Given the description of an element on the screen output the (x, y) to click on. 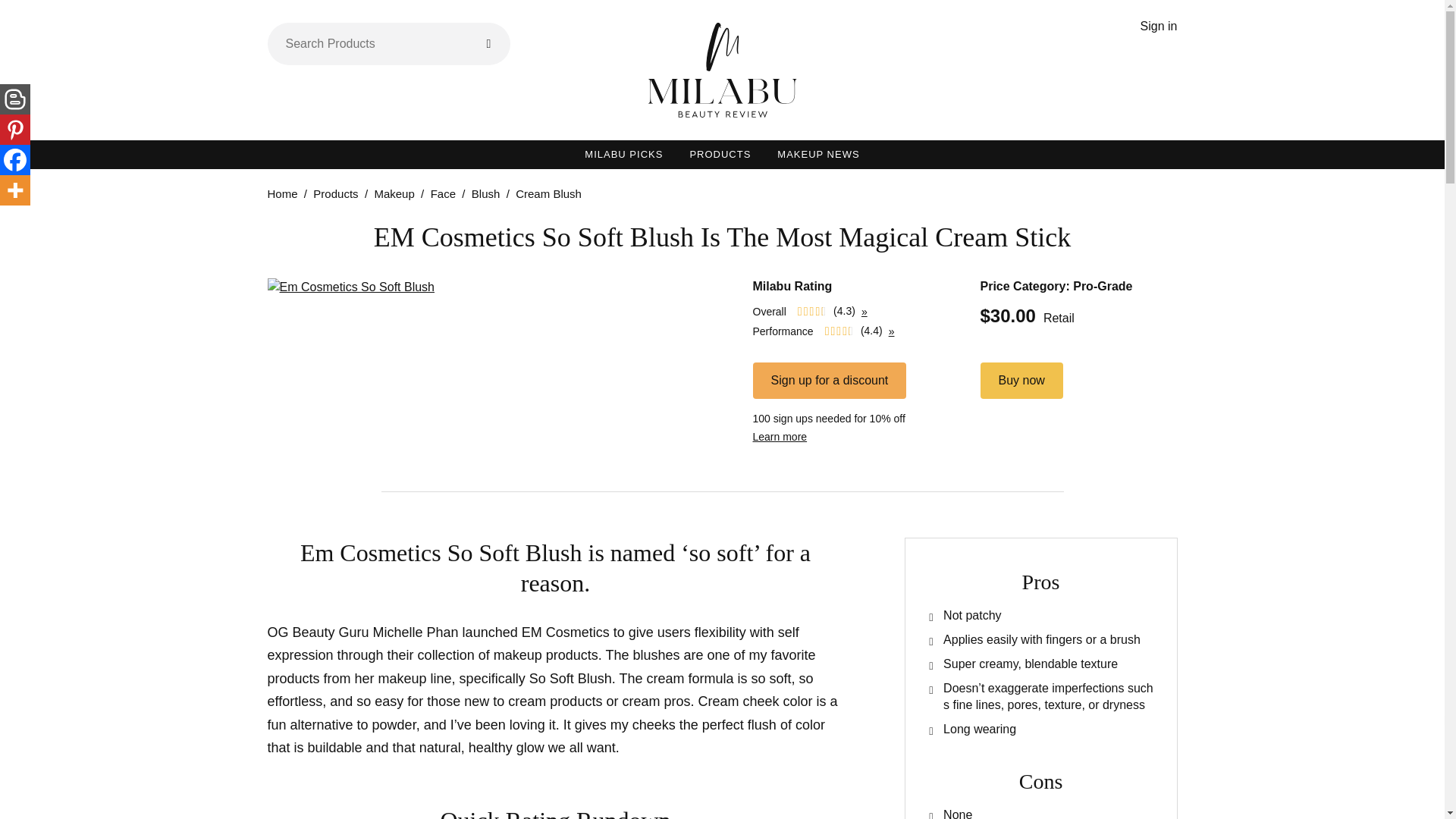
Blogger Post (15, 99)
Facebook (15, 159)
MILABU PICKS (623, 154)
Pinterest (15, 129)
More (15, 190)
Submit (488, 43)
PRODUCTS (719, 154)
Sign in (1158, 26)
